Given the description of an element on the screen output the (x, y) to click on. 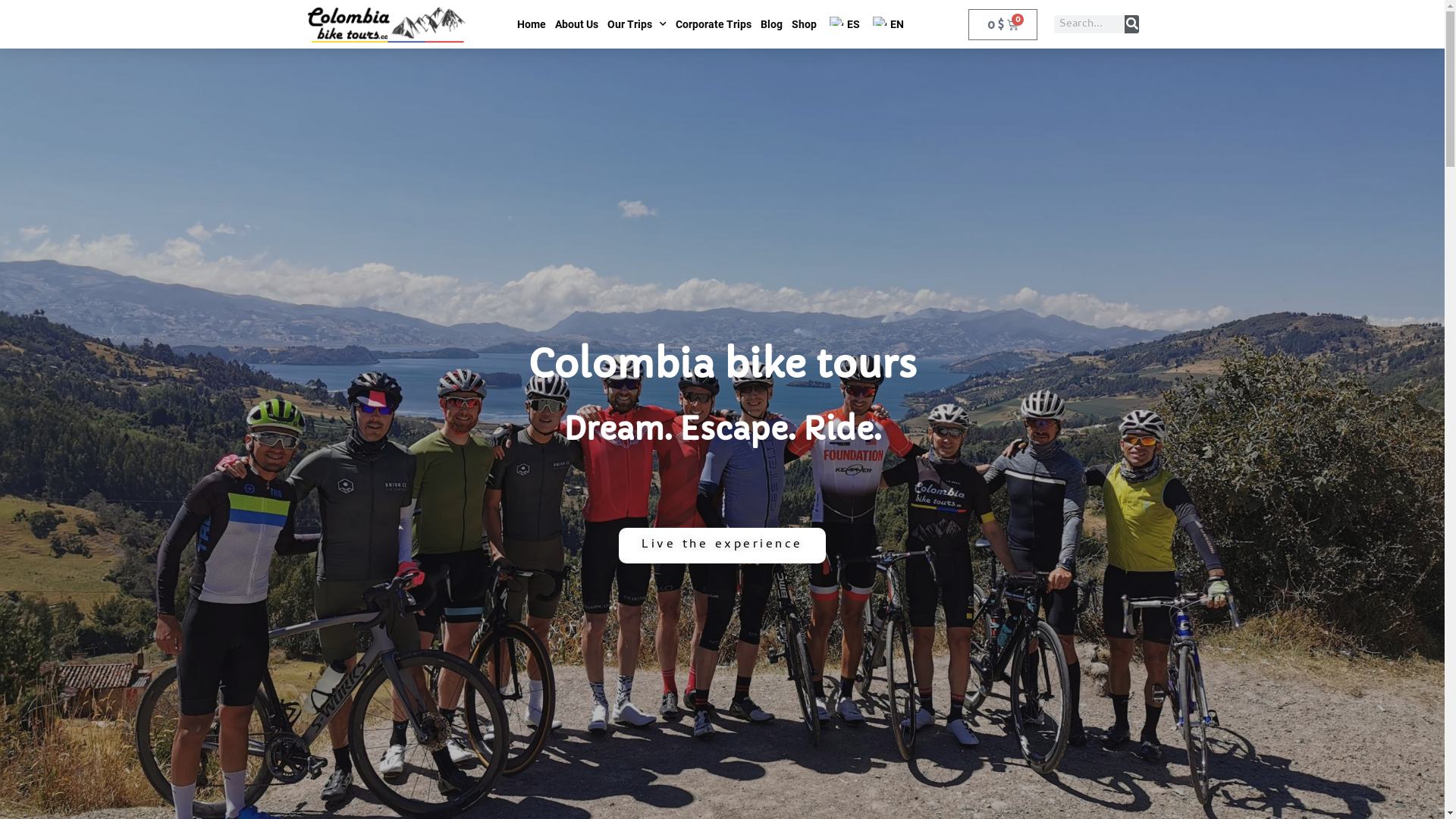
Blog Element type: text (771, 24)
0 $
0 Element type: text (1003, 24)
Live the experience Element type: text (721, 545)
Spanish Element type: hover (836, 20)
Home Element type: text (531, 24)
Corporate Trips Element type: text (713, 24)
EN Element type: text (886, 24)
About Us Element type: text (576, 24)
Our Trips Element type: text (636, 24)
Shop Element type: text (804, 24)
English Element type: hover (879, 20)
ES Element type: text (842, 24)
